Given the description of an element on the screen output the (x, y) to click on. 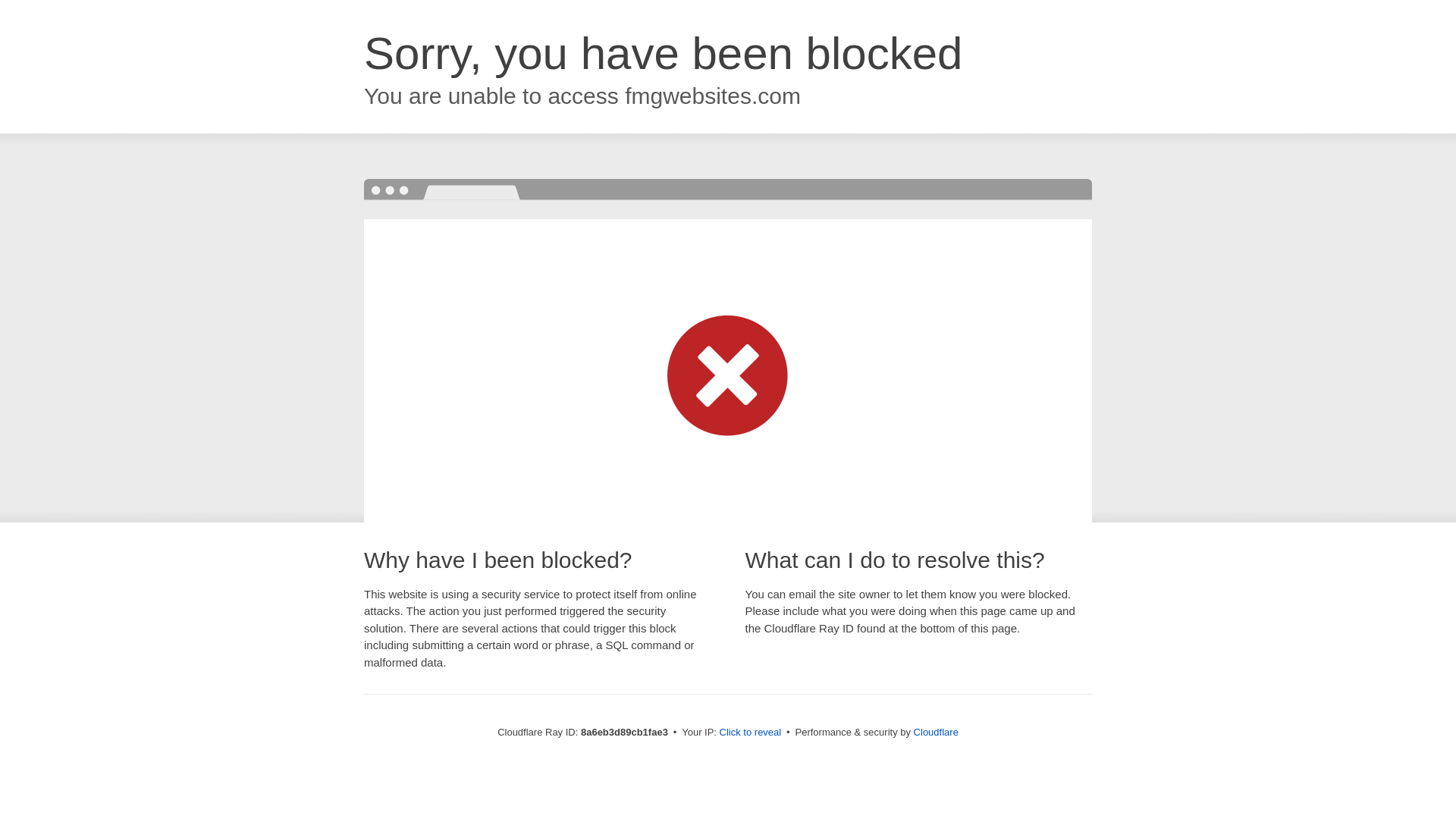
Click to reveal (750, 732)
Cloudflare (936, 731)
